Given the description of an element on the screen output the (x, y) to click on. 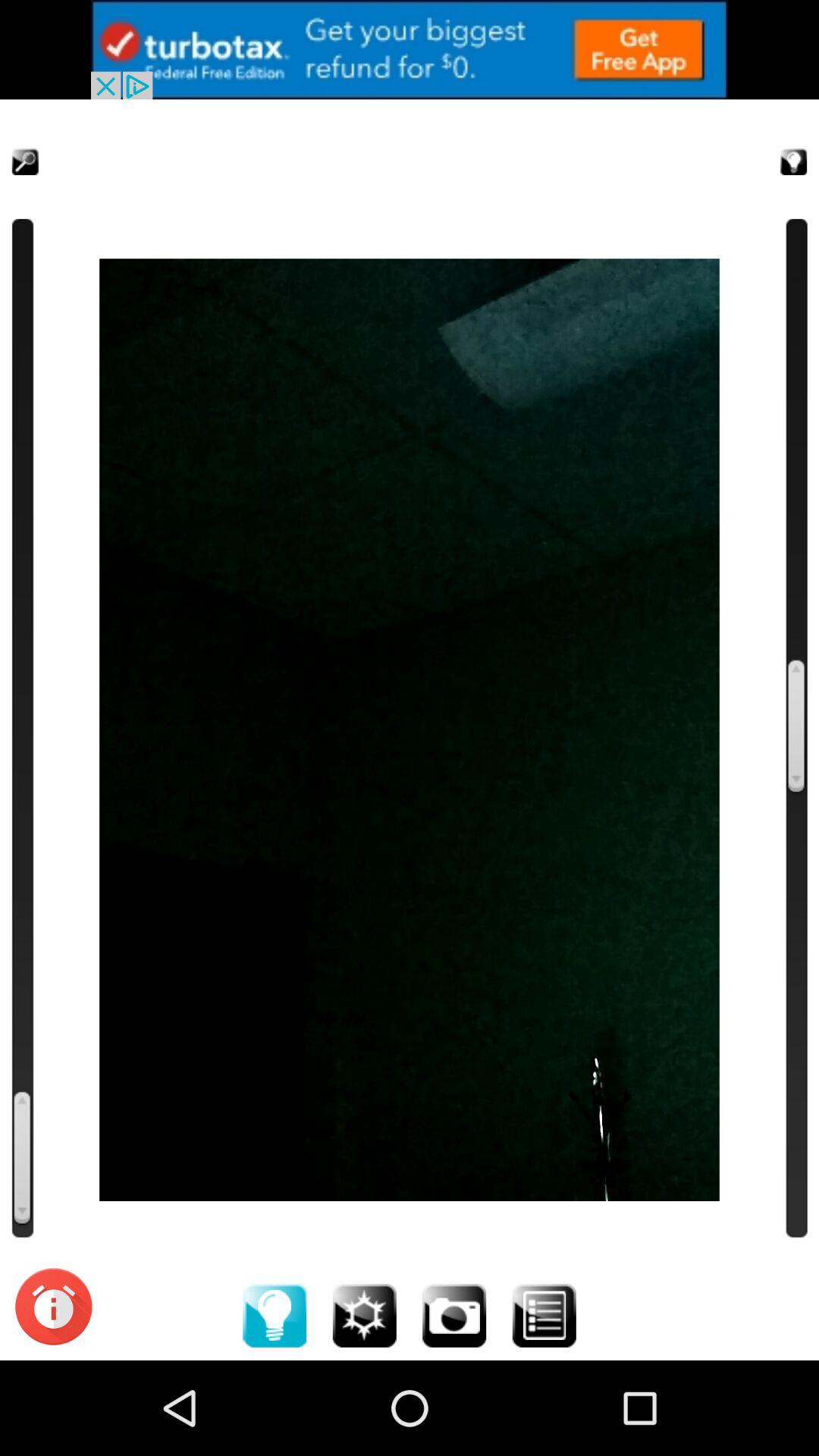
toggle light or night mode (775, 143)
